Given the description of an element on the screen output the (x, y) to click on. 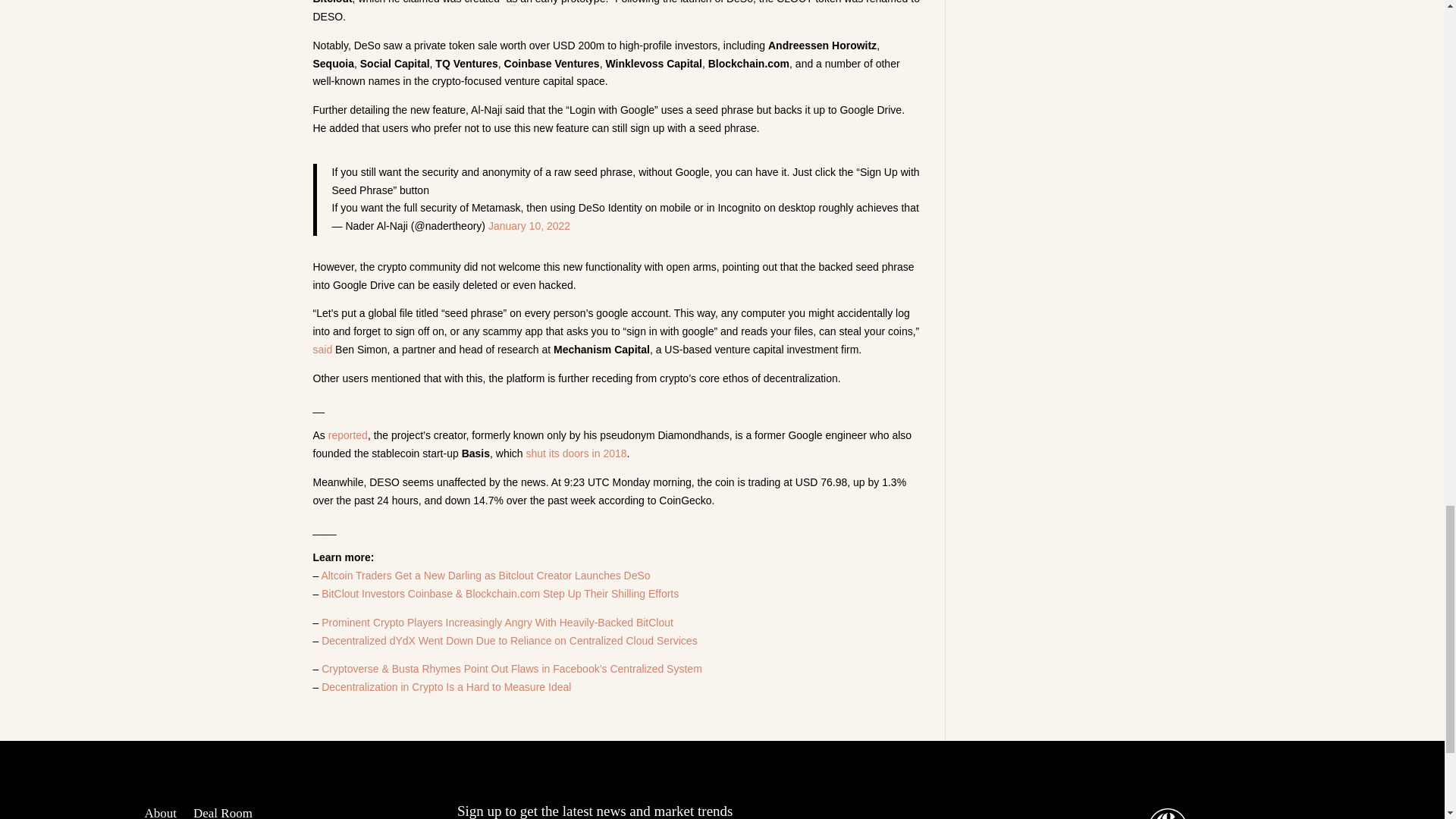
shut its doors in 2018 (575, 453)
reported (348, 435)
said (322, 349)
Decentralization in Crypto Is a Hard to Measure Ideal (445, 686)
About (160, 813)
January 10, 2022 (528, 225)
Deal Room (222, 813)
